Given the description of an element on the screen output the (x, y) to click on. 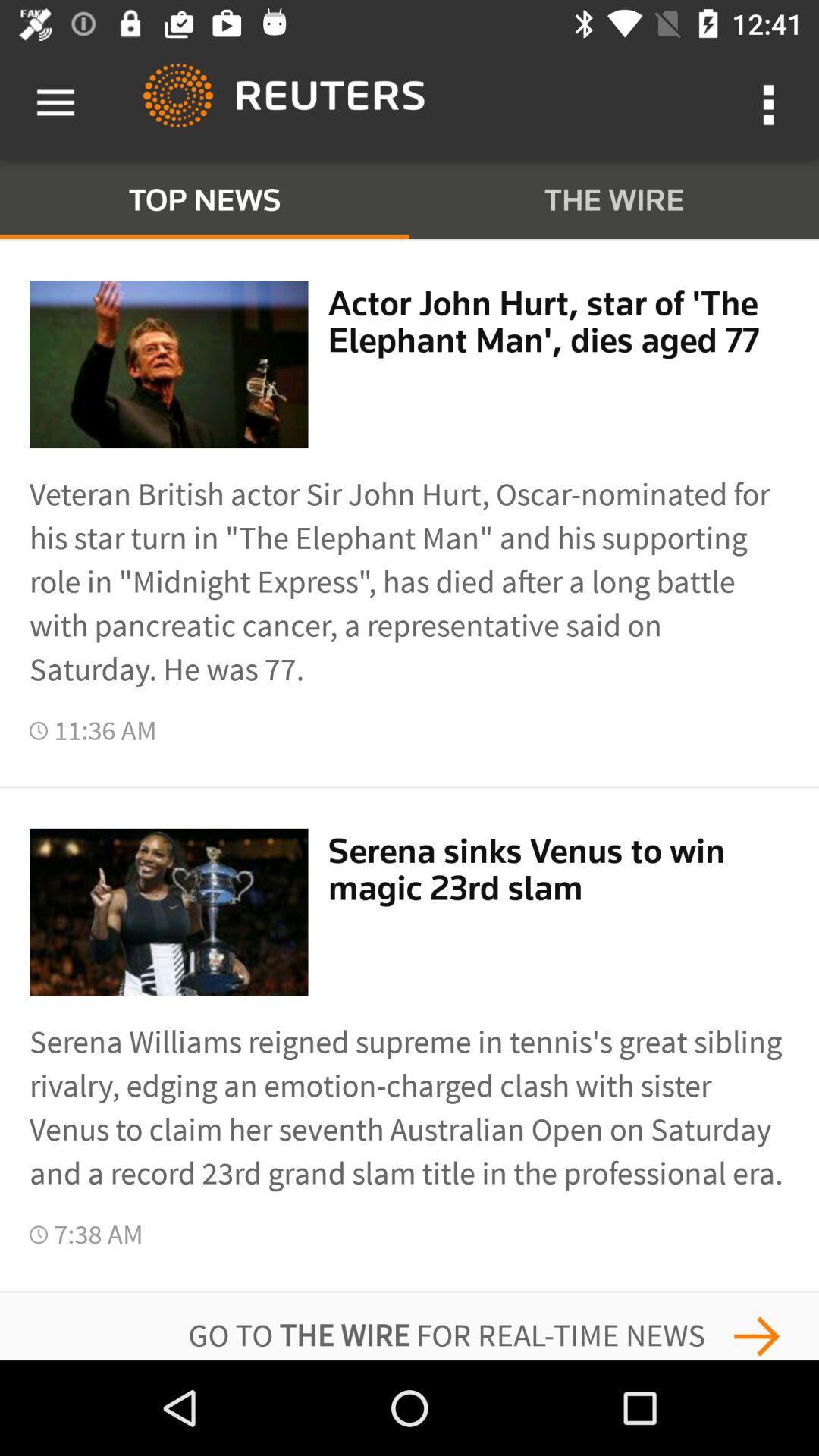
go to left first option (168, 364)
go to the second picture next to 1136 am (168, 911)
click on the more option button to the right side of reuters (771, 103)
